Given the description of an element on the screen output the (x, y) to click on. 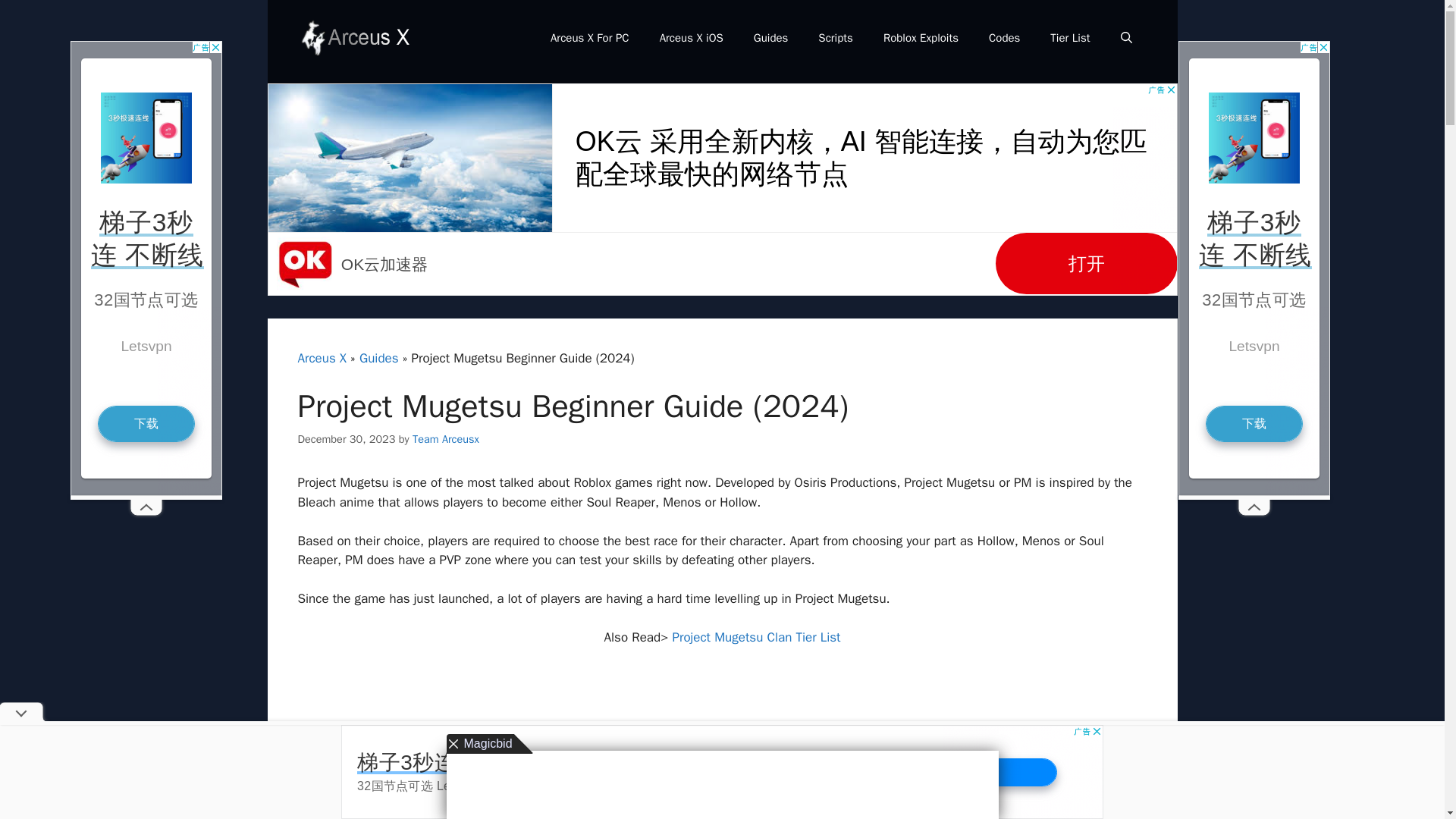
Codes (1004, 37)
Team Arceusx (445, 438)
Roblox Exploits (920, 37)
Project Mugetsu Clan Tier List (755, 637)
Guides (770, 37)
Arceus X iOS (691, 37)
Guides (378, 358)
Arceus X For PC (590, 37)
Tier List (1070, 37)
3rd party ad content (410, 742)
View all posts by Team Arceusx (445, 438)
Scripts (835, 37)
Arceus X (321, 358)
